Given the description of an element on the screen output the (x, y) to click on. 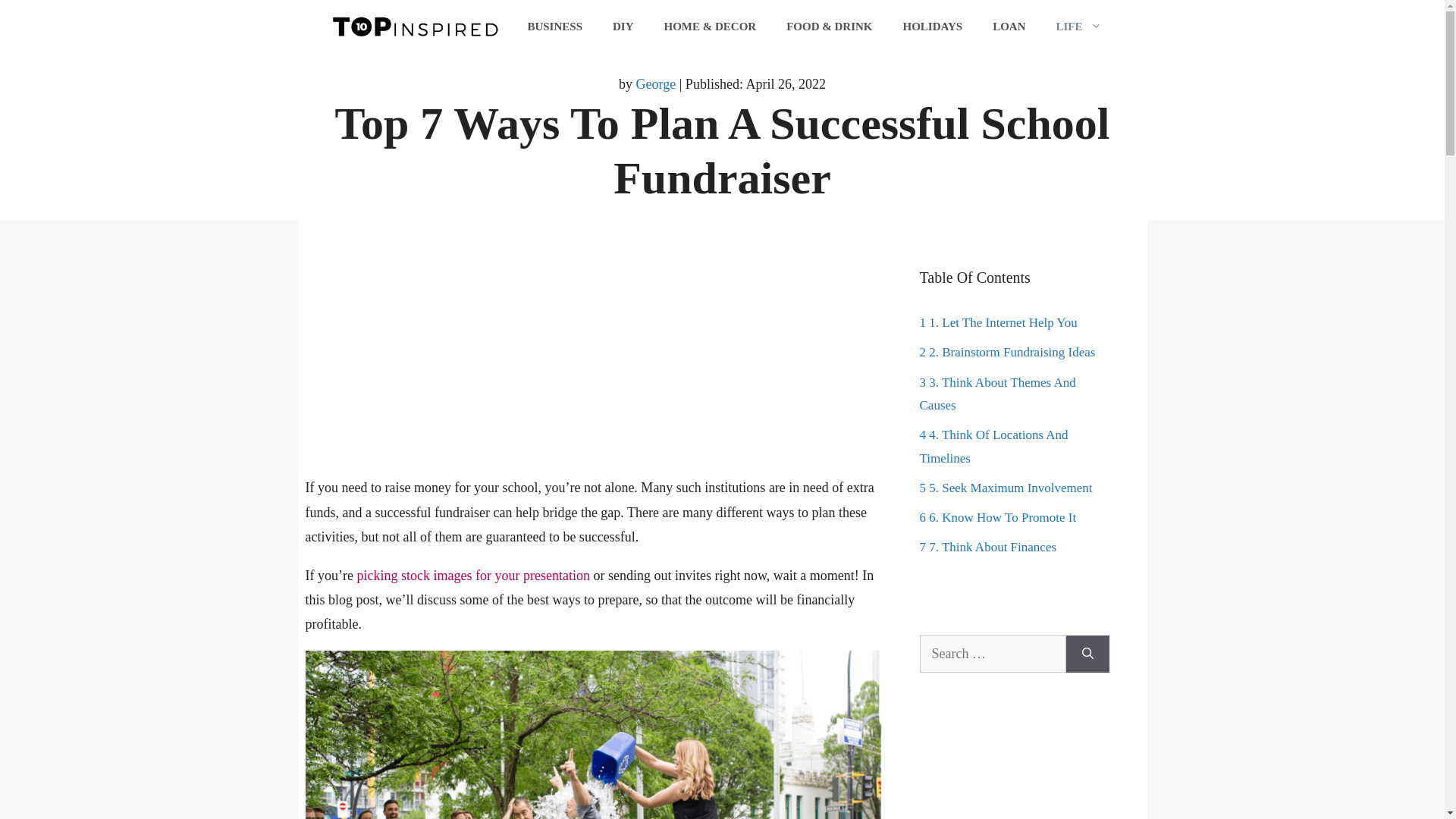
1 1. Let The Internet Help You (997, 322)
5 5. Seek Maximum Involvement (1005, 487)
BUSINESS (554, 26)
6 6. Know How To Promote It (996, 517)
picking stock images for your presentation (472, 575)
HOLIDAYS (931, 26)
4 4. Think Of Locations And Timelines (992, 446)
3 3. Think About Themes And Causes (996, 394)
Top Inspired (414, 26)
Top Inspired (414, 24)
